Given the description of an element on the screen output the (x, y) to click on. 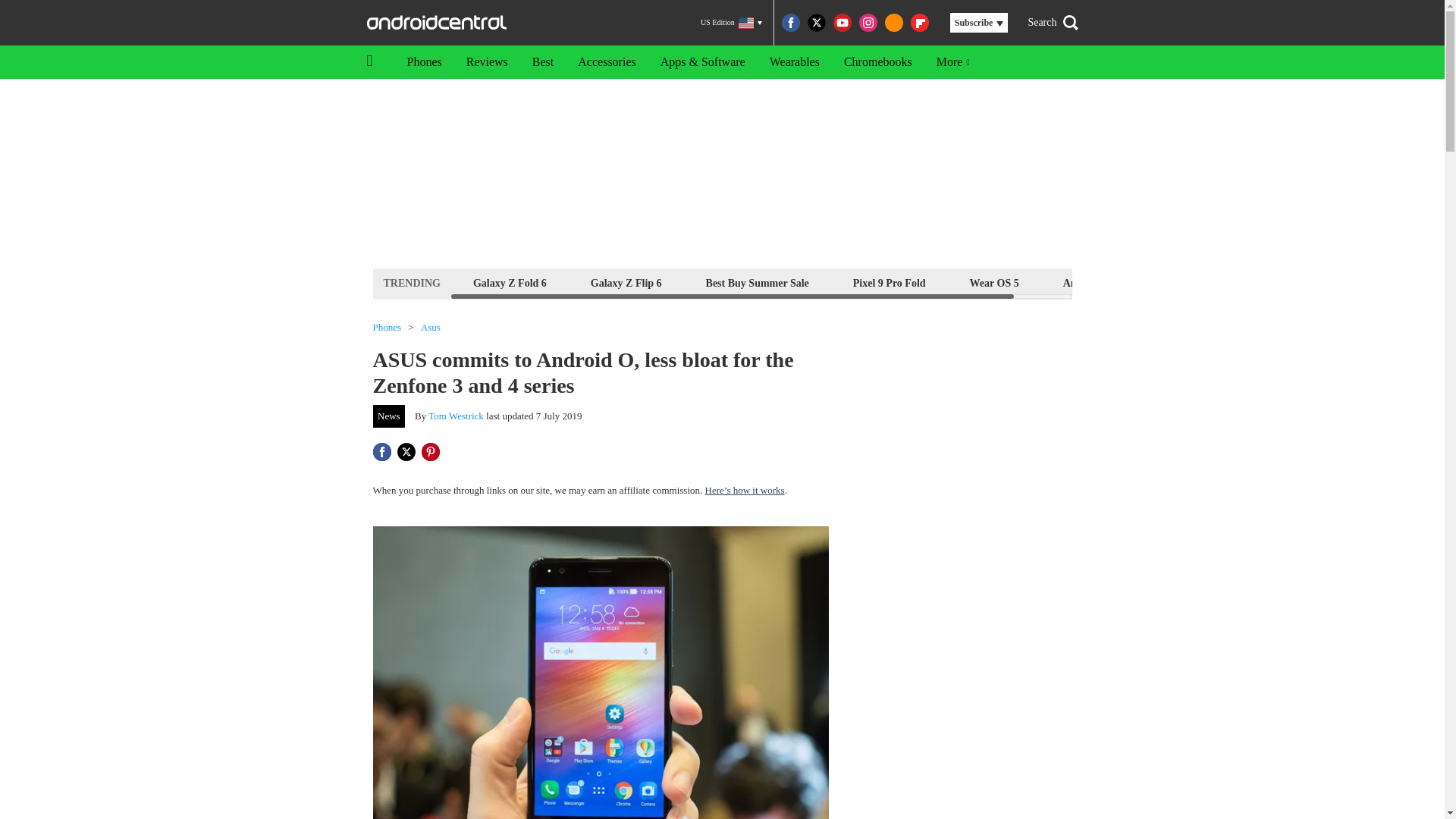
Wear OS 5 (994, 282)
Accessories (606, 61)
Reviews (486, 61)
Best (542, 61)
Galaxy Z Fold 6 (509, 282)
Phones (386, 327)
Tom Westrick (455, 415)
Best Buy Summer Sale (756, 282)
Chromebooks (877, 61)
Pixel 9 Pro Fold (889, 282)
Galaxy Z Flip 6 (625, 282)
News (389, 415)
Wearables (794, 61)
Phones (423, 61)
Android 15 (1088, 282)
